Given the description of an element on the screen output the (x, y) to click on. 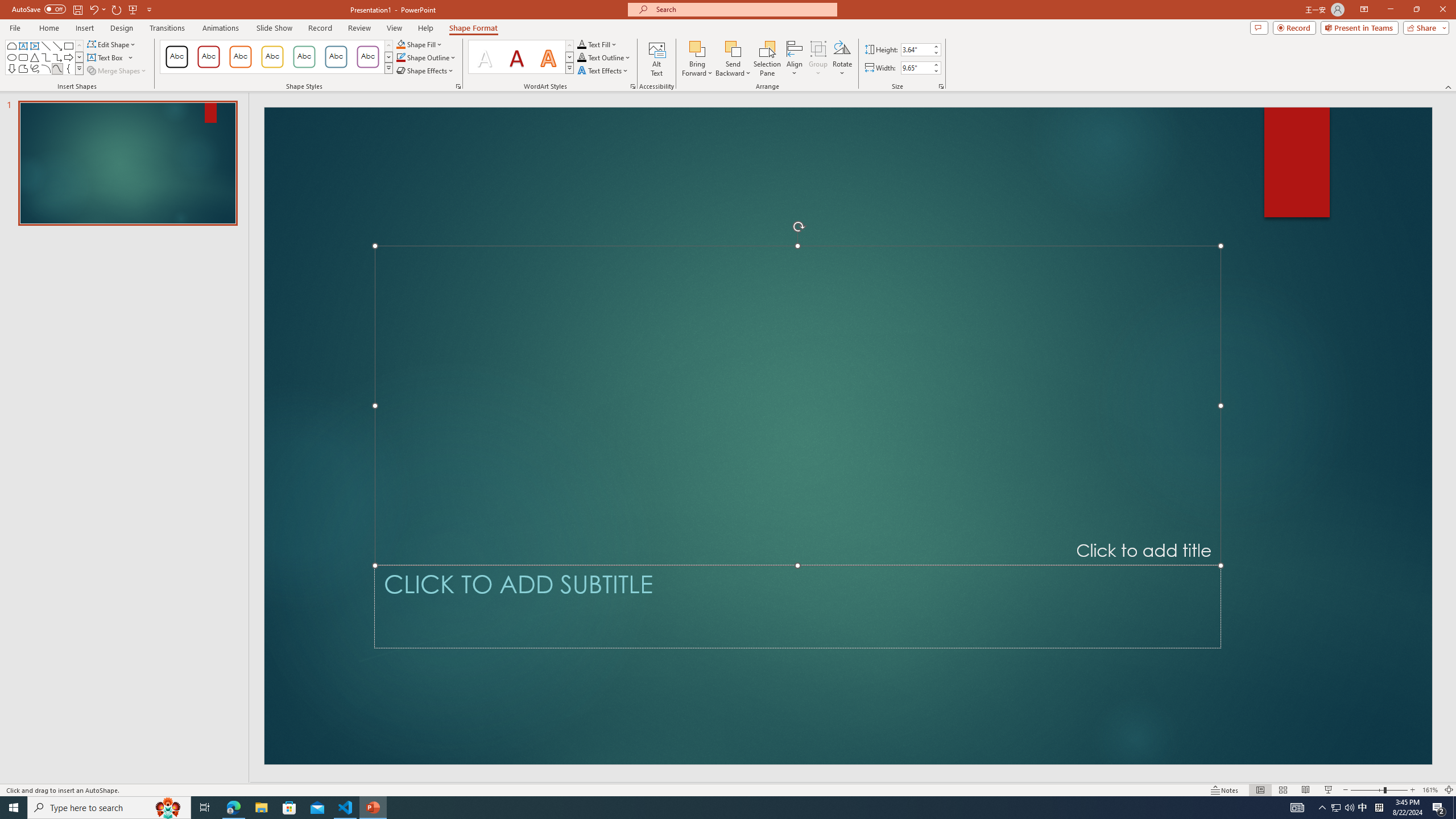
AutomationID: ShapesInsertGallery (44, 57)
Colored Outline - Black, Dark 1 (176, 56)
Review (359, 28)
Line Arrow (57, 45)
Left Brace (68, 68)
AutoSave (38, 9)
View (395, 28)
Align (794, 58)
Title TextBox (797, 405)
Shape Width (915, 67)
Record (1294, 27)
Comments (1259, 27)
Notes  (1225, 790)
Share (1423, 27)
